Given the description of an element on the screen output the (x, y) to click on. 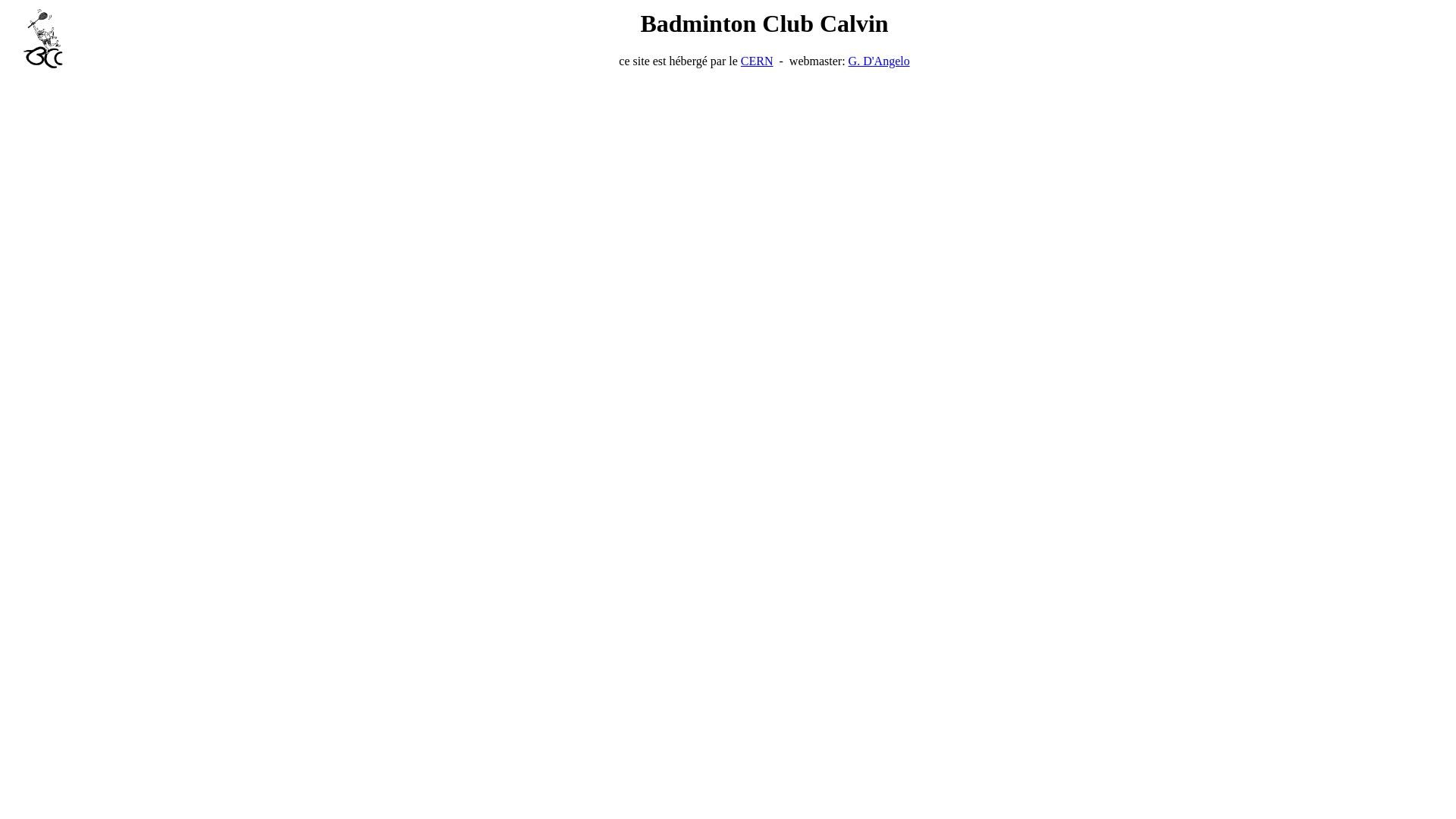
CERN Element type: text (756, 60)
G. D'Angelo Element type: text (879, 60)
